Given the description of an element on the screen output the (x, y) to click on. 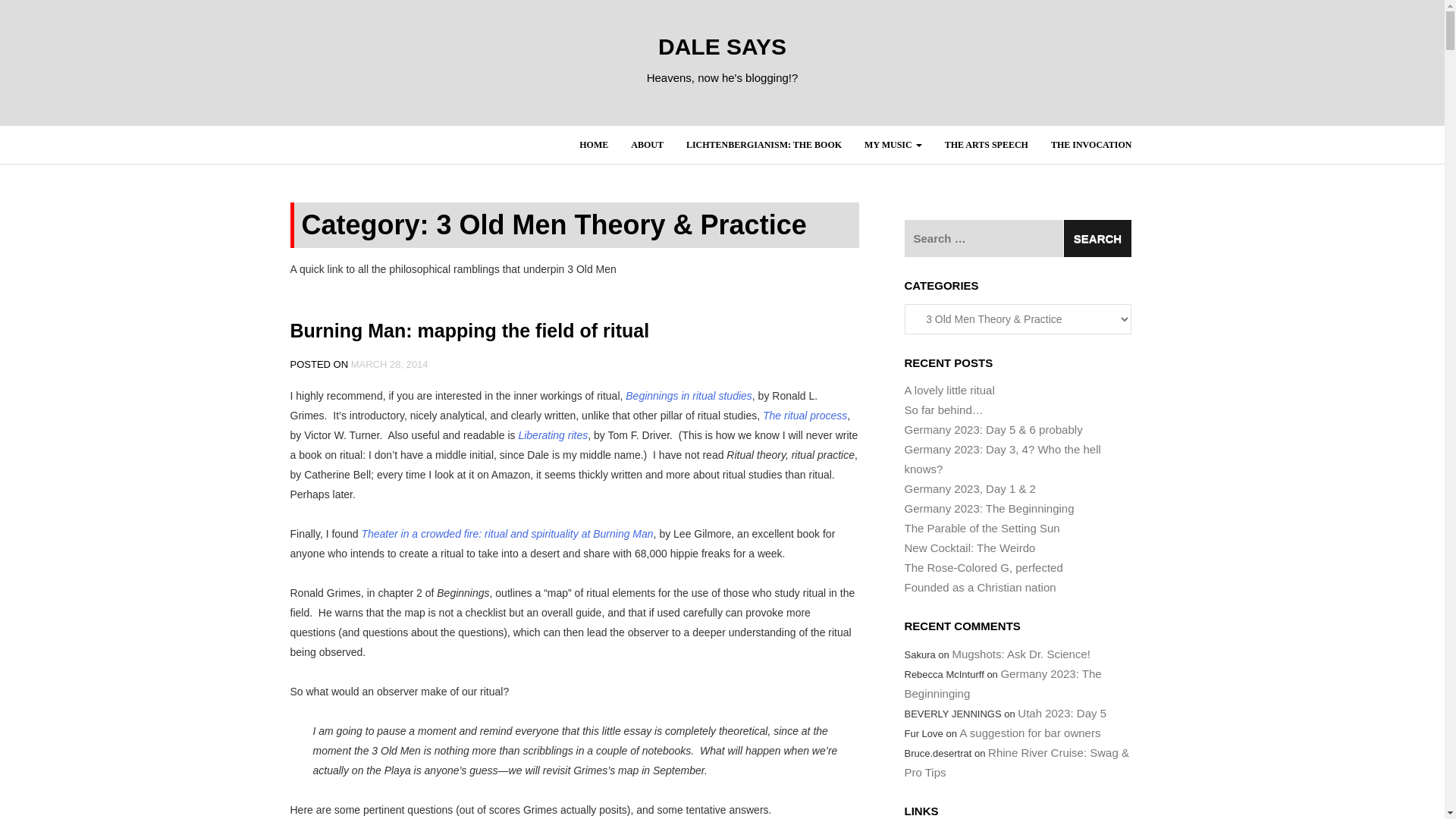
About (647, 144)
Search (1096, 238)
LICHTENBERGIANISM: THE BOOK (764, 144)
MY MUSIC (893, 144)
MARCH 28, 2014 (389, 364)
My Music (893, 144)
Beginnings in ritual studies (689, 395)
The Invocation (1090, 144)
Home (593, 144)
